Given the description of an element on the screen output the (x, y) to click on. 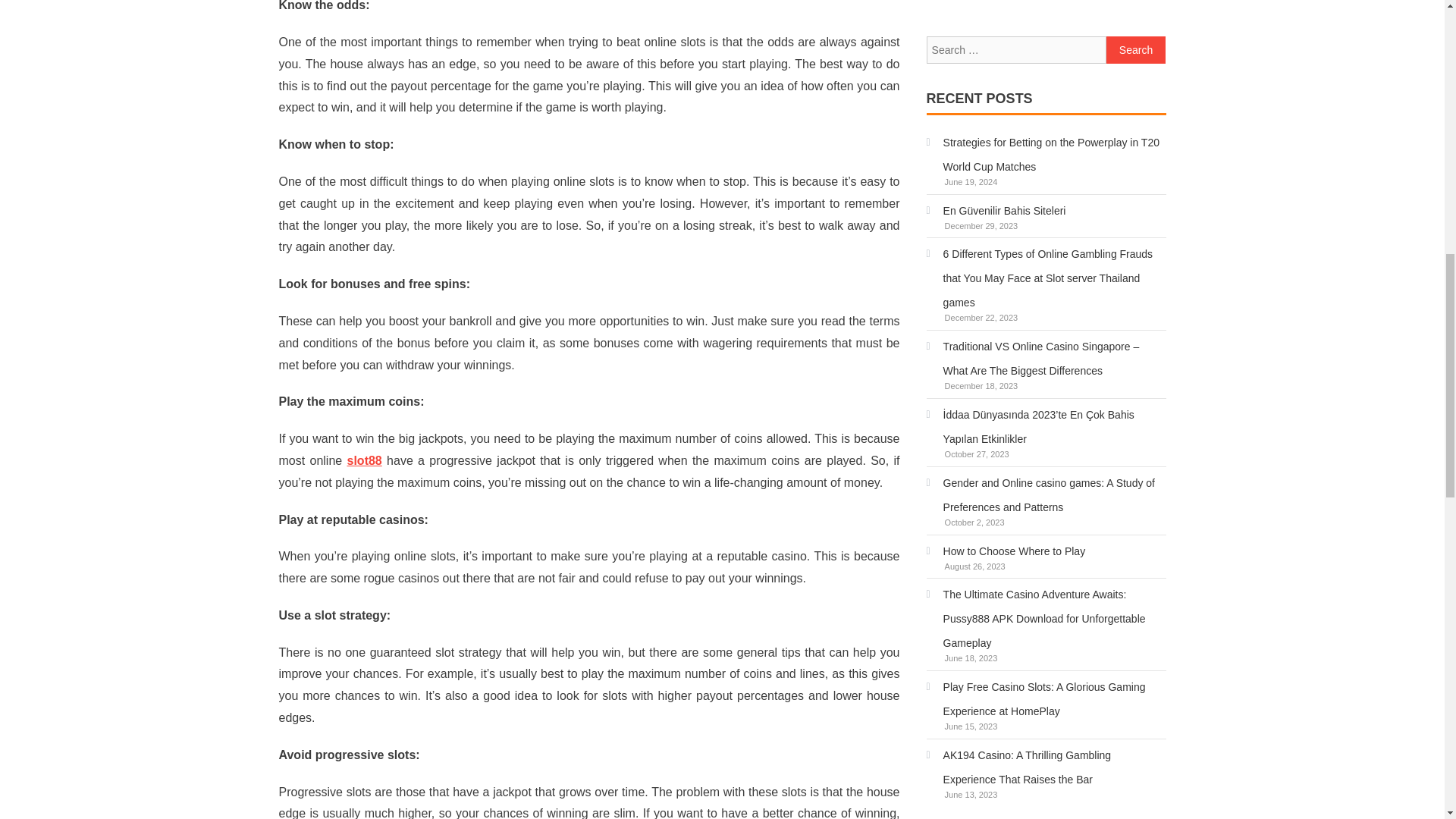
slot88 (364, 460)
Search (1136, 49)
Search (1136, 49)
